Given the description of an element on the screen output the (x, y) to click on. 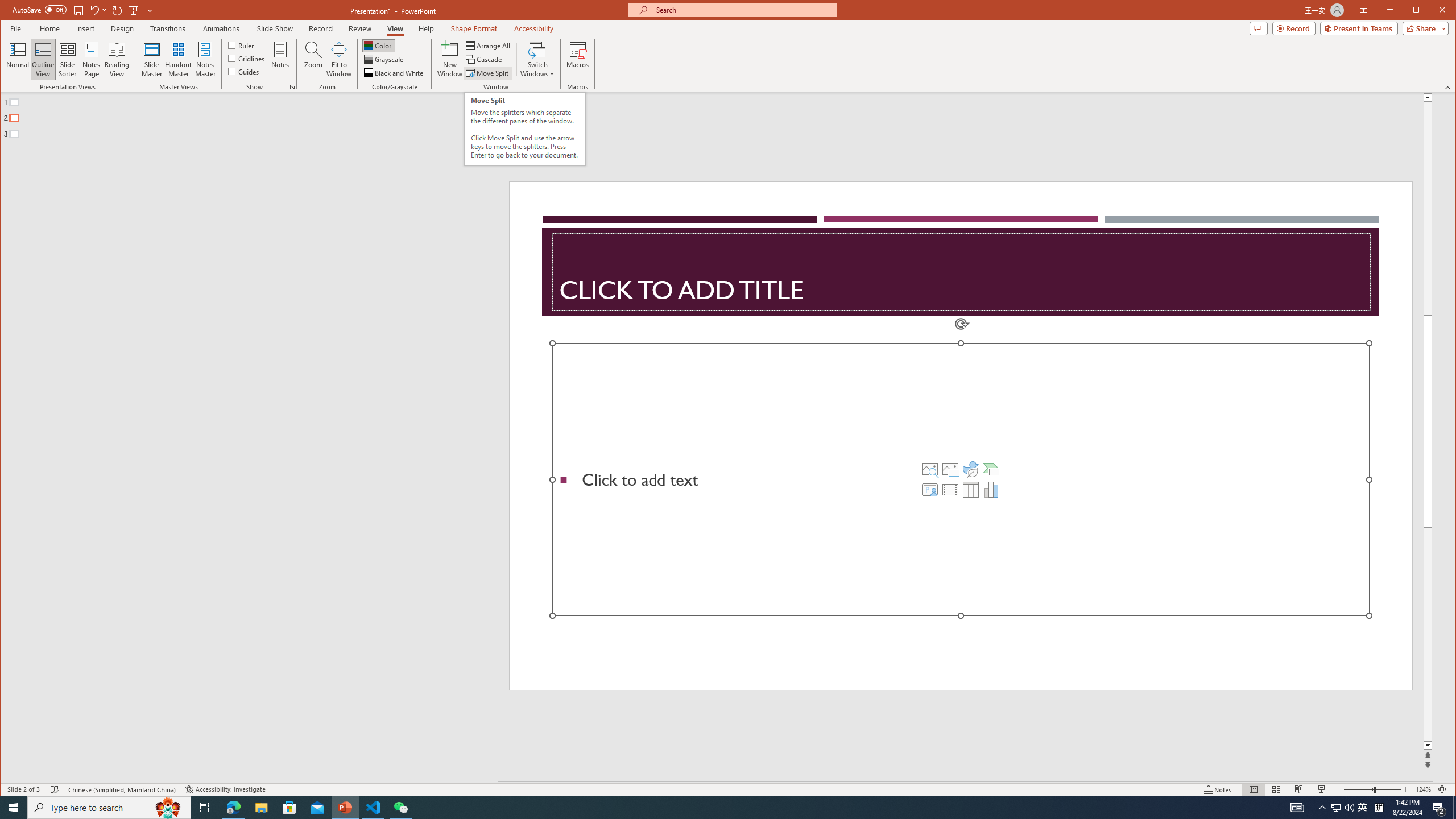
Move Split (488, 72)
Switch Windows (537, 59)
Fit to Window (338, 59)
Insert an Icon (970, 469)
Insert Video (949, 489)
